Given the description of an element on the screen output the (x, y) to click on. 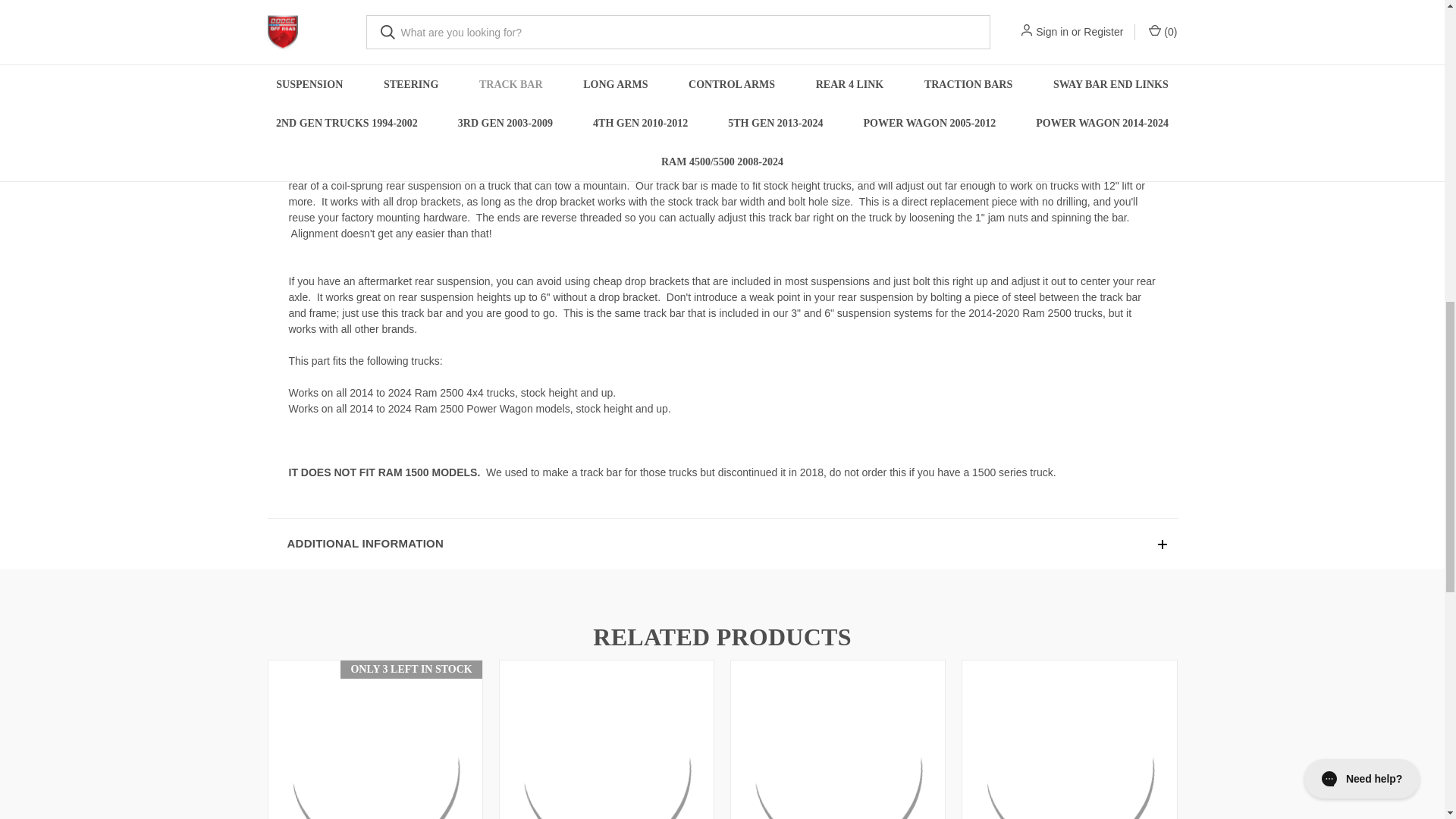
Dodge Off Road Track Bar 4.5 Gen 14-18 (1068, 741)
Fits 2014 and up Ram 2500 4x4 (837, 741)
